Given the description of an element on the screen output the (x, y) to click on. 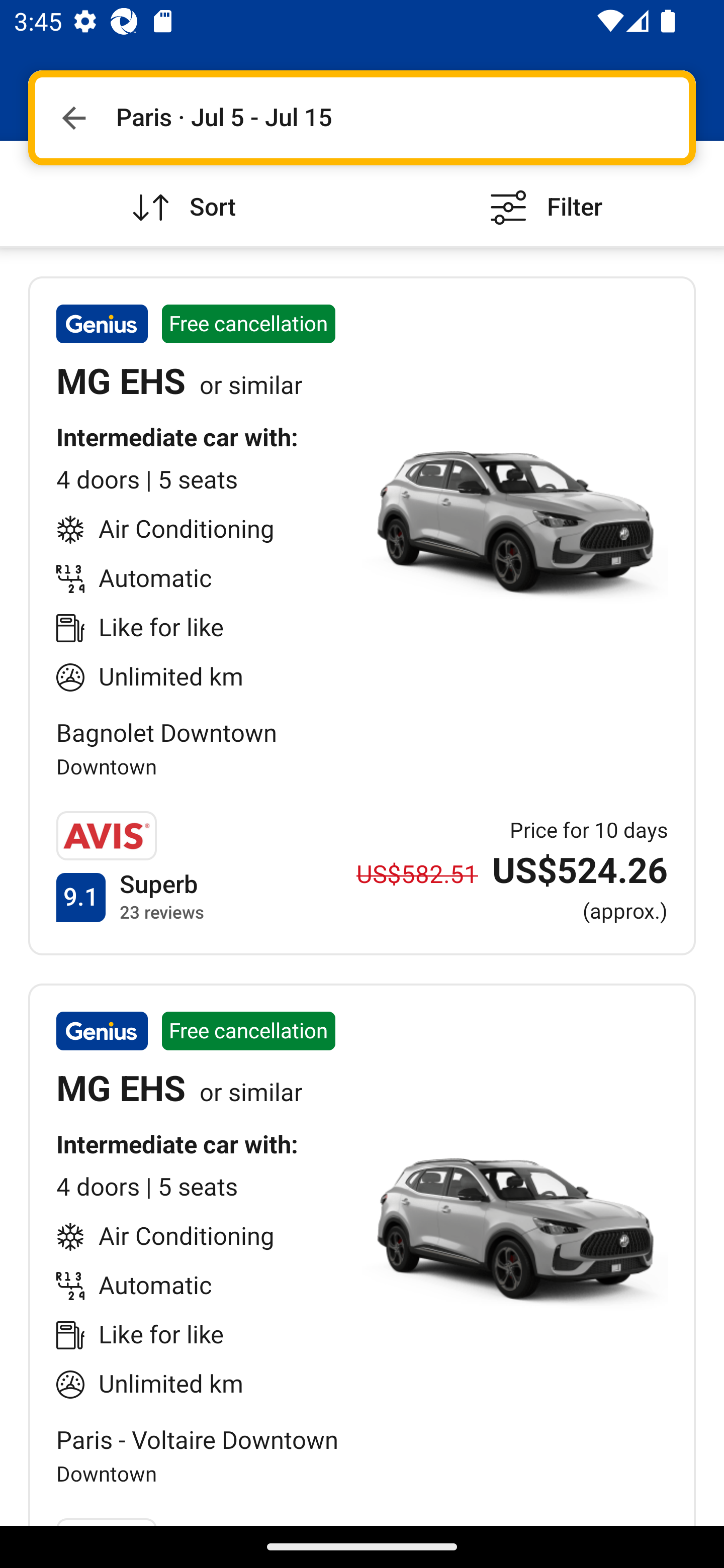
Back to previous screen (73, 117)
Sort (181, 193)
Filter (543, 193)
